Given the description of an element on the screen output the (x, y) to click on. 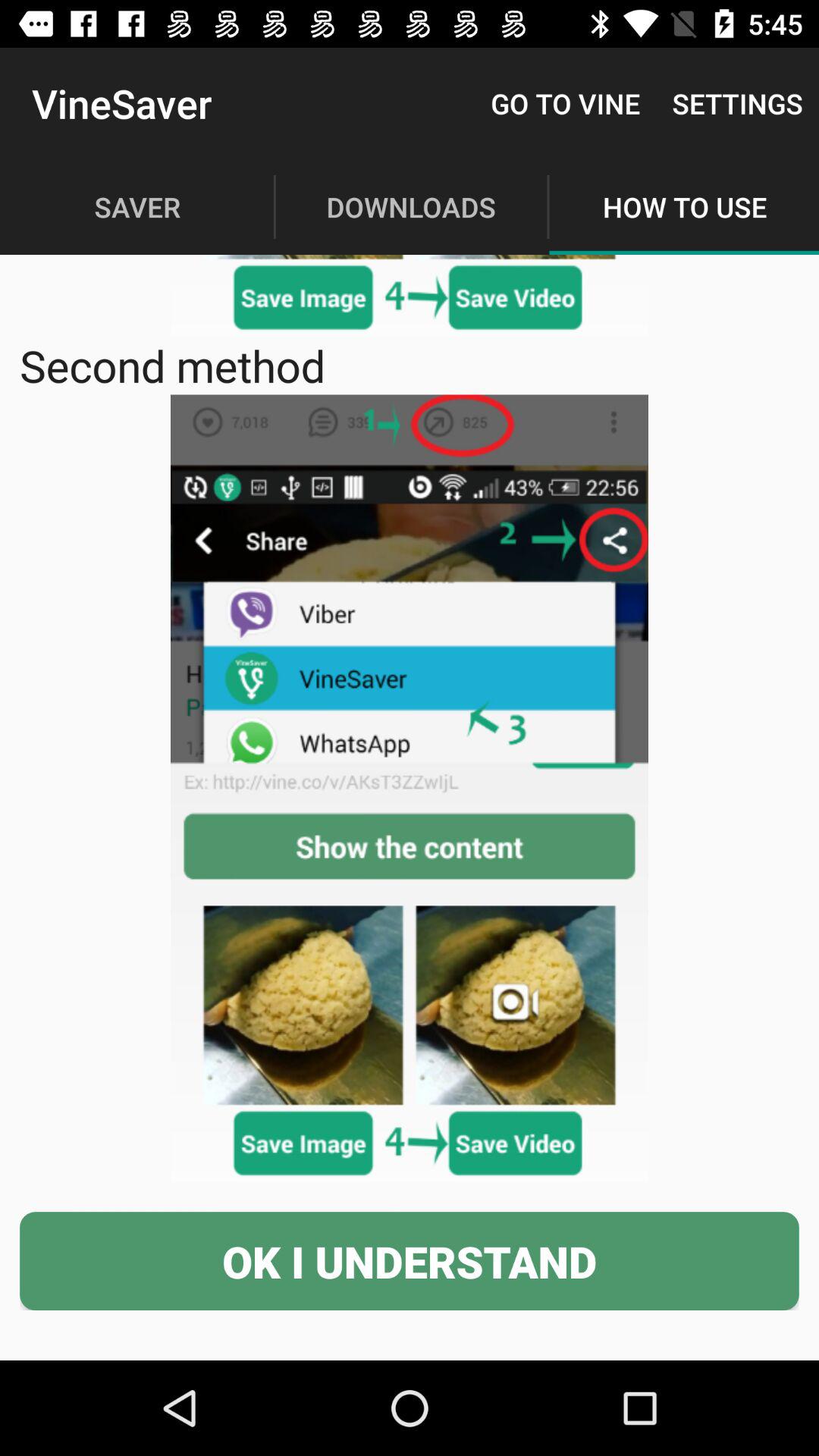
press item to the left of the settings (565, 103)
